Given the description of an element on the screen output the (x, y) to click on. 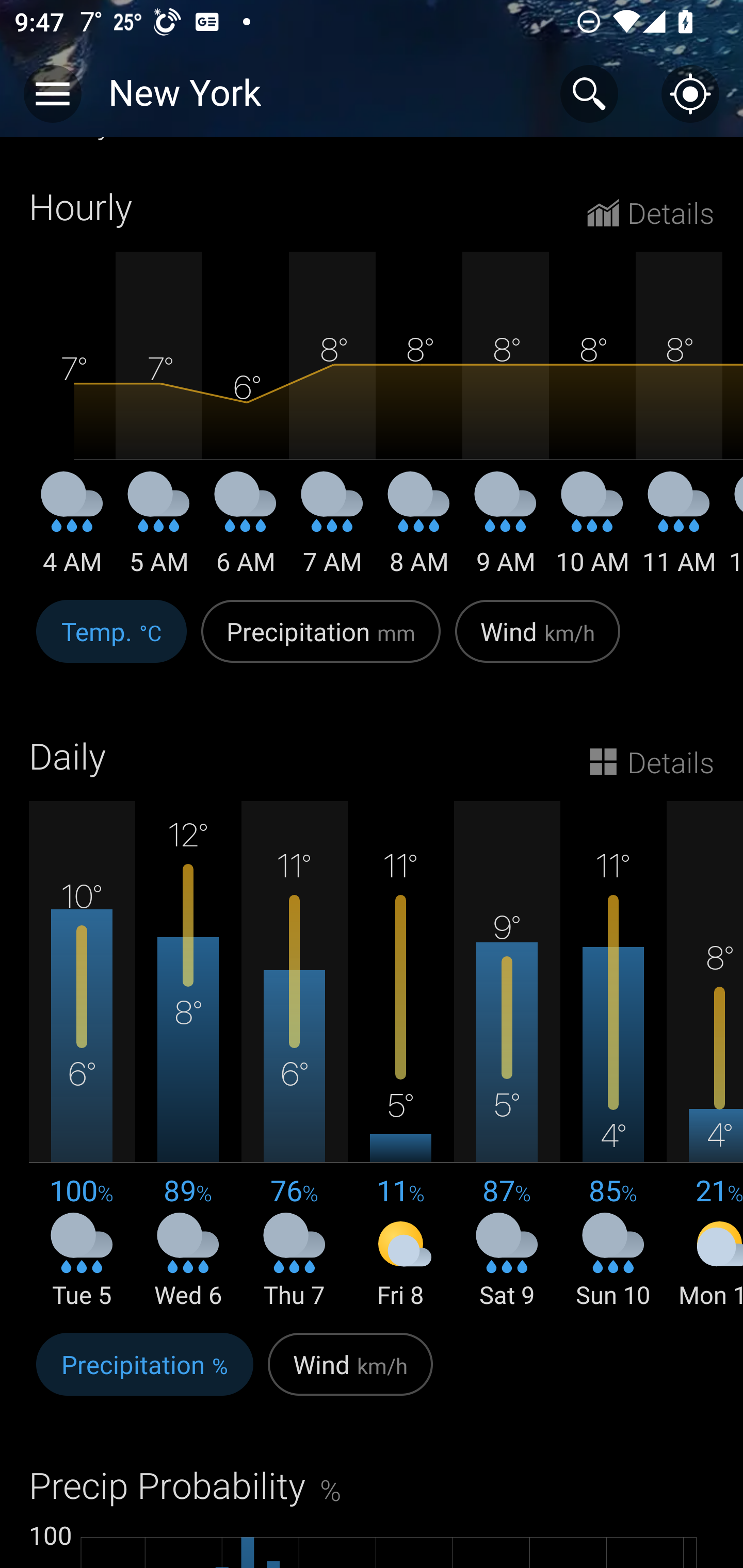
4 AM (71, 530)
5 AM (158, 530)
6 AM (245, 530)
7 AM (332, 530)
8 AM (418, 530)
9 AM (505, 530)
10 AM (592, 530)
11 AM (679, 530)
Temp. °C (110, 641)
Precipitation mm (320, 641)
Wind km/h (537, 641)
10° 6° 100 % Tue 5 (81, 1055)
12° 8° 89 % Wed 6 (188, 1055)
11° 6° 76 % Thu 7 (294, 1055)
11° 5° 11 % Fri 8 (400, 1055)
9° 5° 87 % Sat 9 (506, 1055)
11° 4° 85 % Sun 10 (613, 1055)
8° 4° 21 % Mon 11 (704, 1055)
Precipitation % (144, 1374)
Wind km/h (349, 1374)
